Given the description of an element on the screen output the (x, y) to click on. 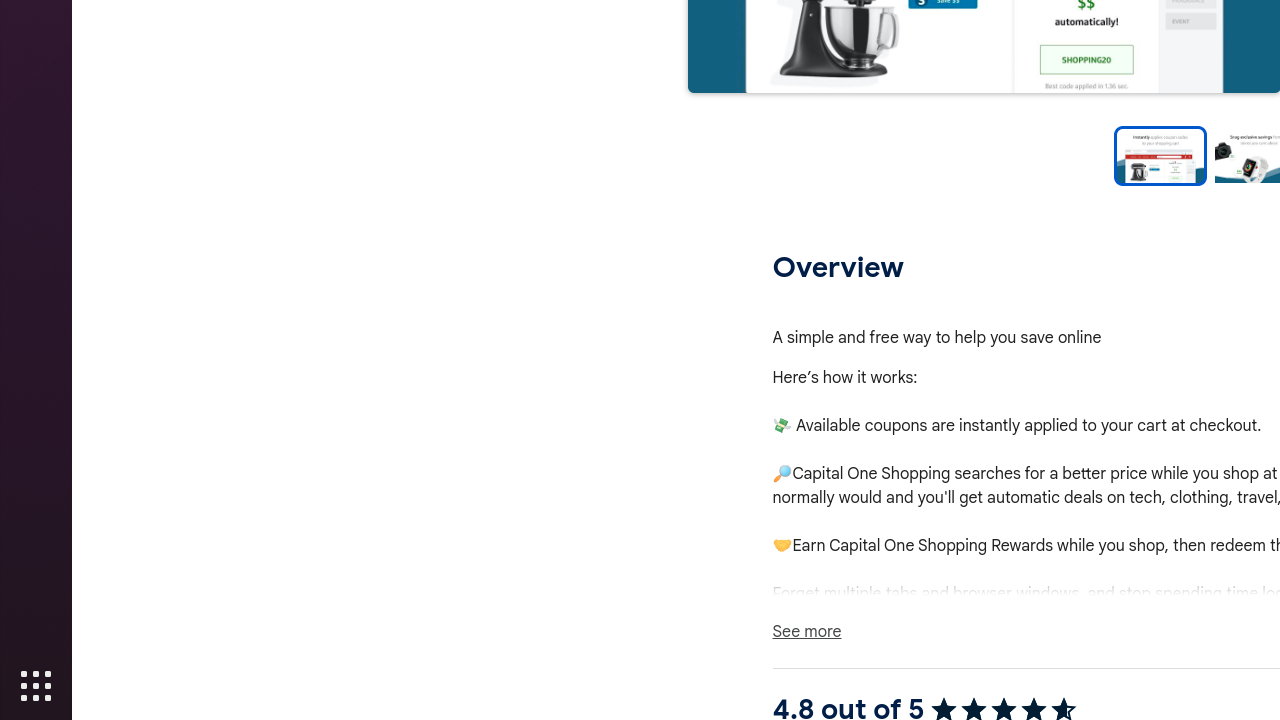
Preview slide 1 Element type: push-button (1160, 156)
Show Applications Element type: toggle-button (36, 686)
